Given the description of an element on the screen output the (x, y) to click on. 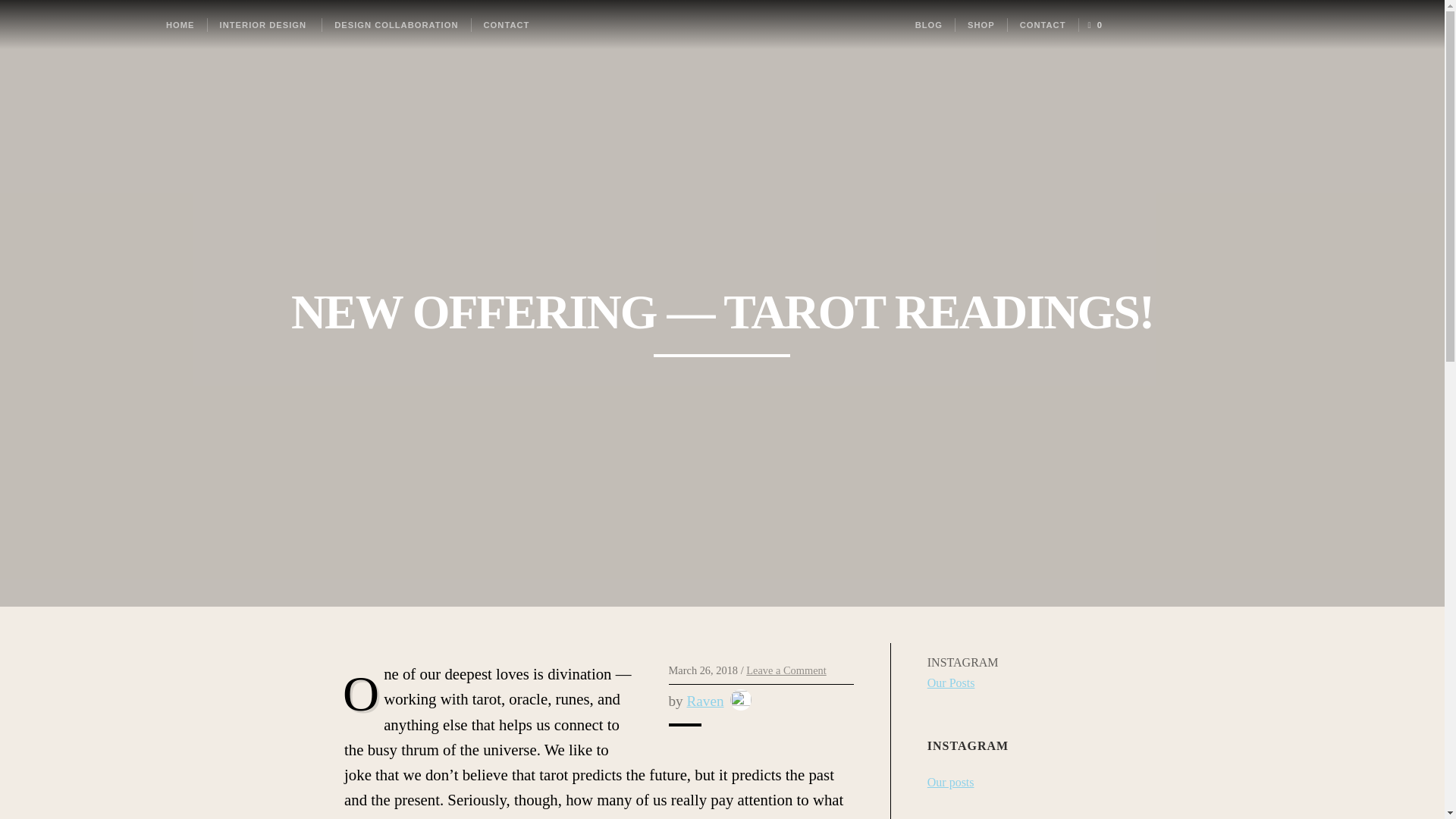
Posts by Raven (705, 700)
Raven In A World Tree (721, 24)
Leave a Comment (786, 670)
BLOG (928, 24)
0 (1094, 24)
CONTACT (1042, 24)
HOME (180, 24)
Our Posts (951, 682)
INTERIOR DESIGN  (263, 24)
SHOP (981, 24)
